Given the description of an element on the screen output the (x, y) to click on. 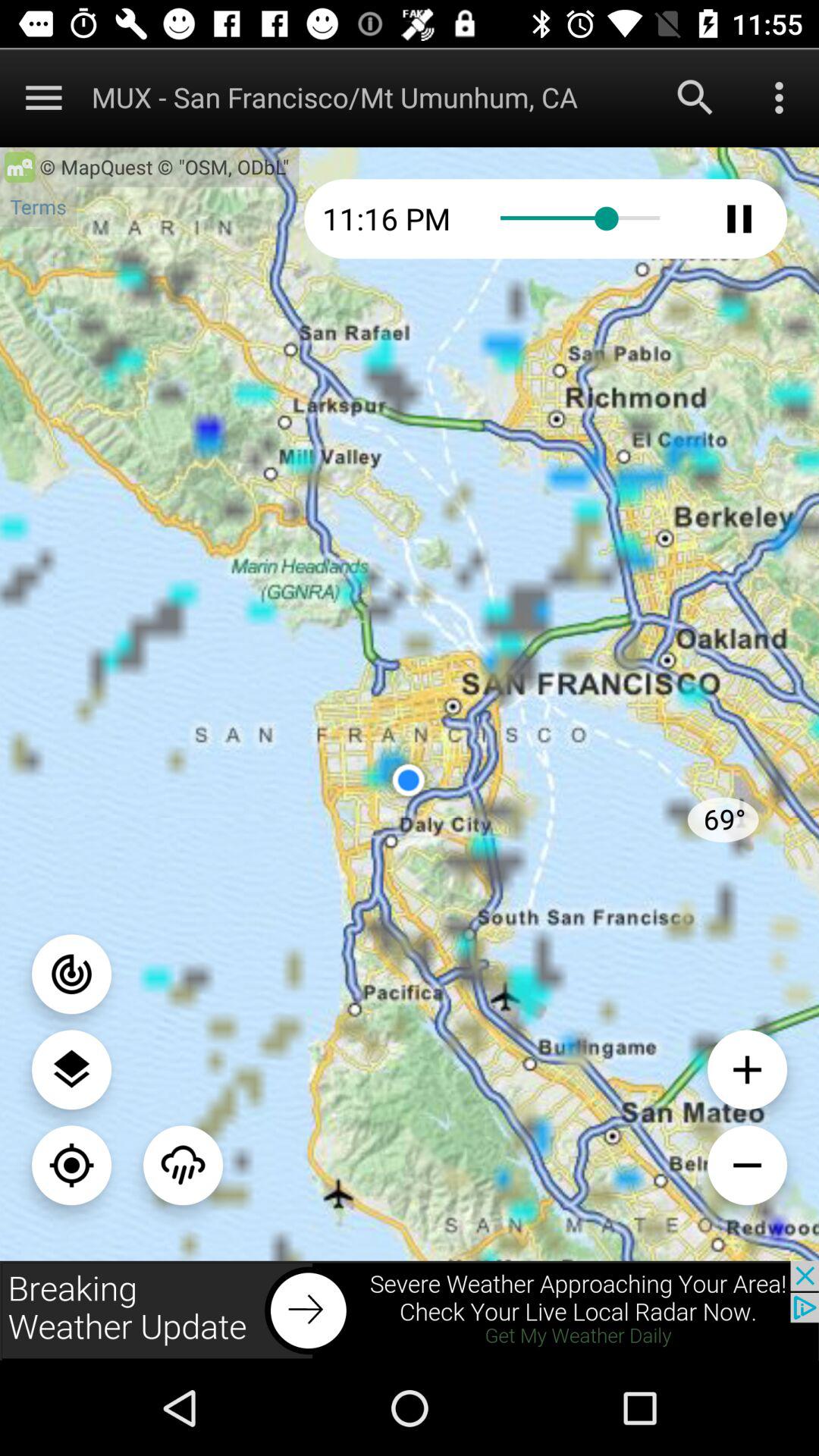
menu (182, 1165)
